Given the description of an element on the screen output the (x, y) to click on. 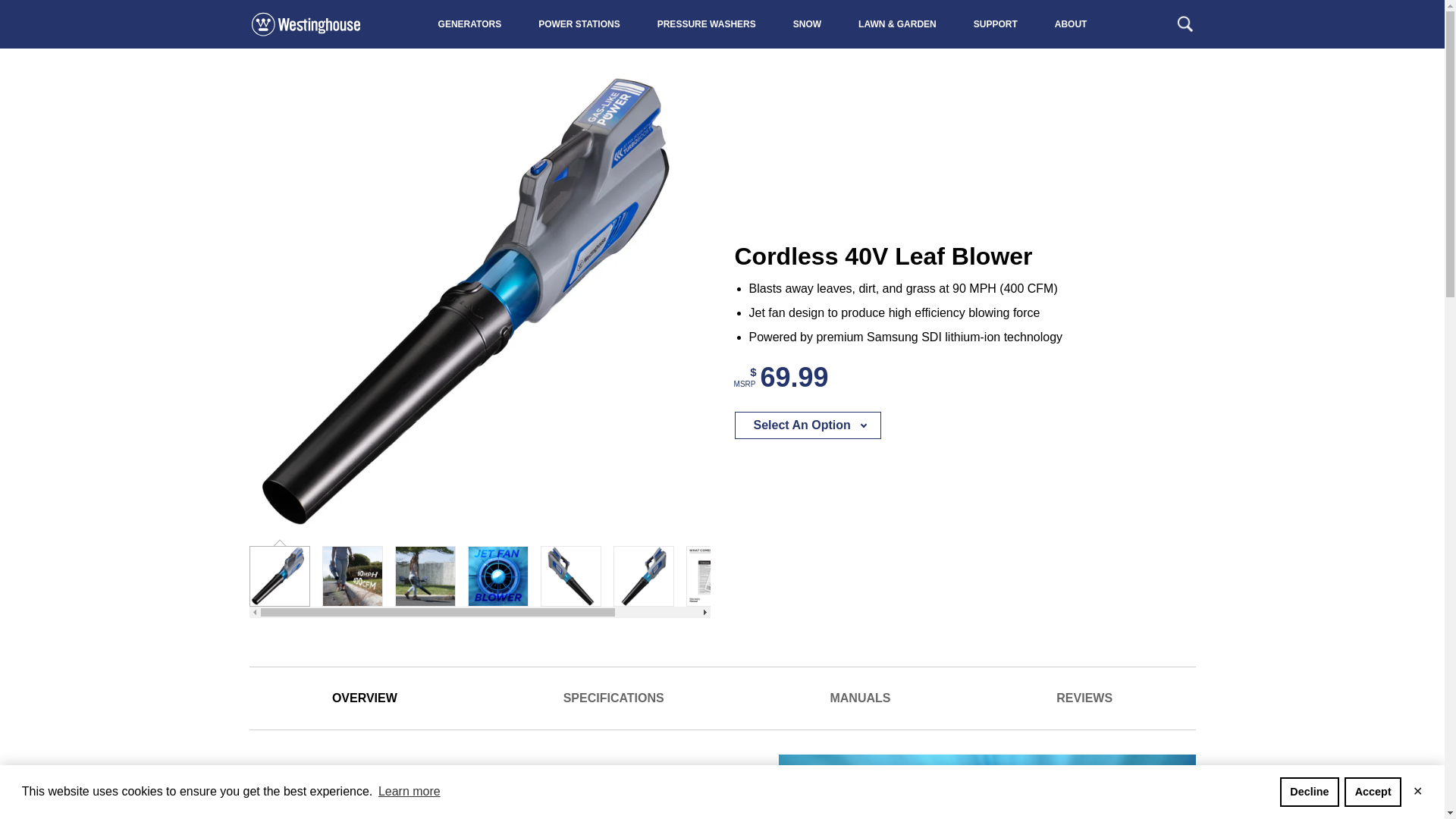
POWER STATIONS (579, 24)
PRESSURE WASHERS (706, 23)
Learn more (408, 791)
ABOUT (1070, 23)
GENERATORS (469, 23)
Decline (1309, 791)
SUPPORT (995, 23)
Accept (1371, 791)
SNOW (807, 23)
